Given the description of an element on the screen output the (x, y) to click on. 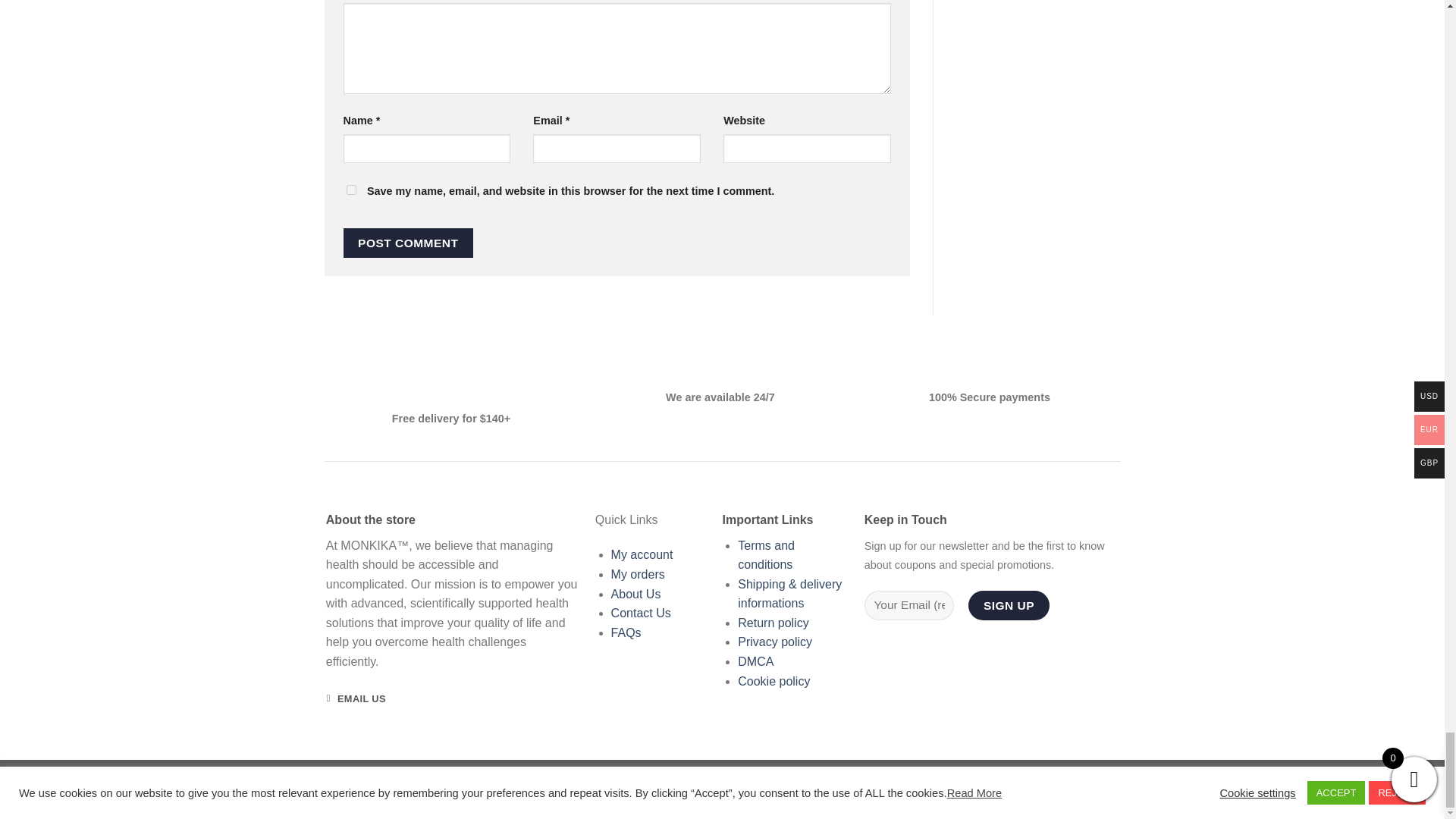
yes (350, 189)
Sign Up (1008, 604)
Post Comment (407, 242)
